Given the description of an element on the screen output the (x, y) to click on. 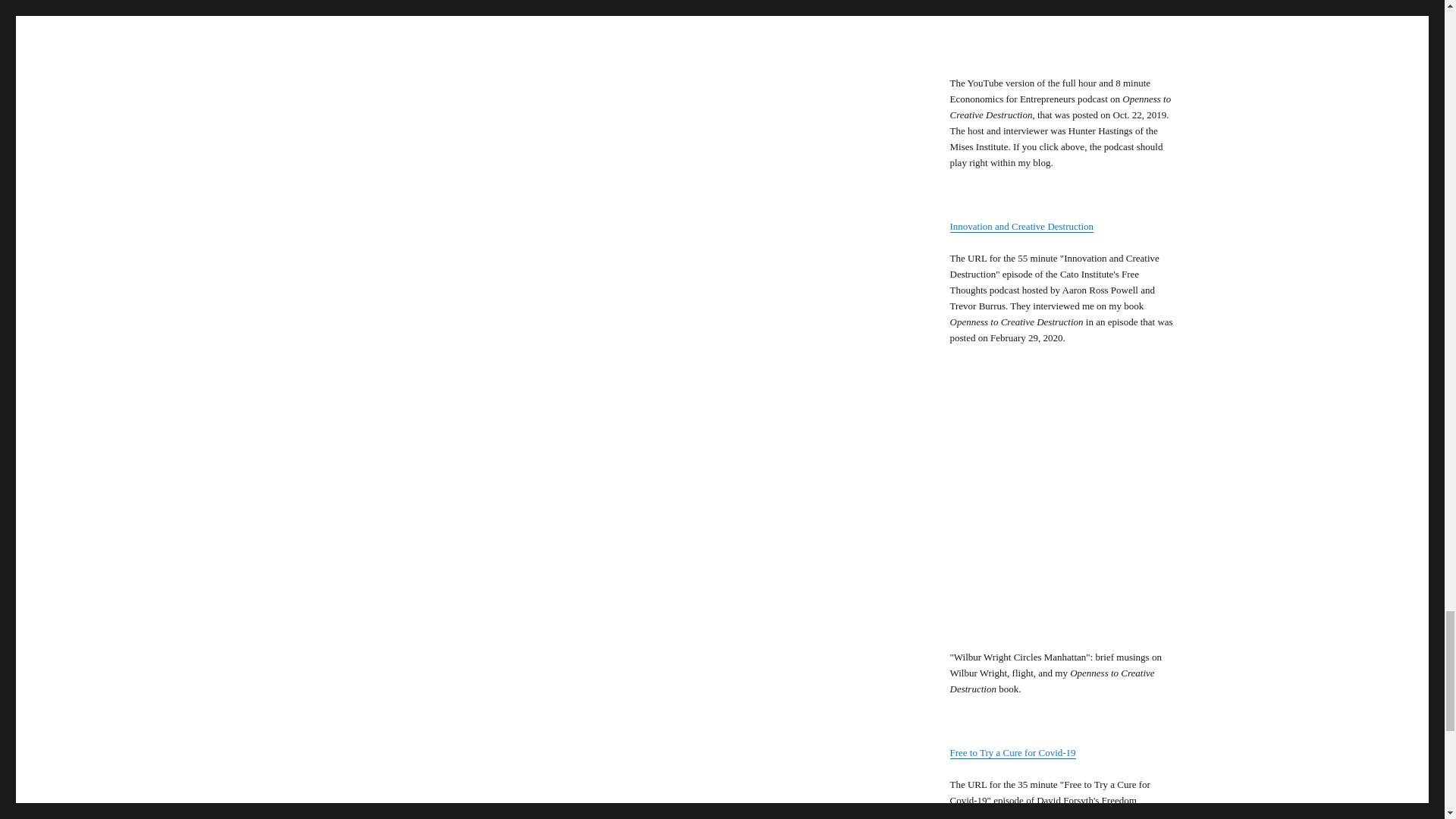
Free to Try a Cure for Covid-19 (1012, 752)
Innovation and Creative Destruction (1021, 225)
